Given the description of an element on the screen output the (x, y) to click on. 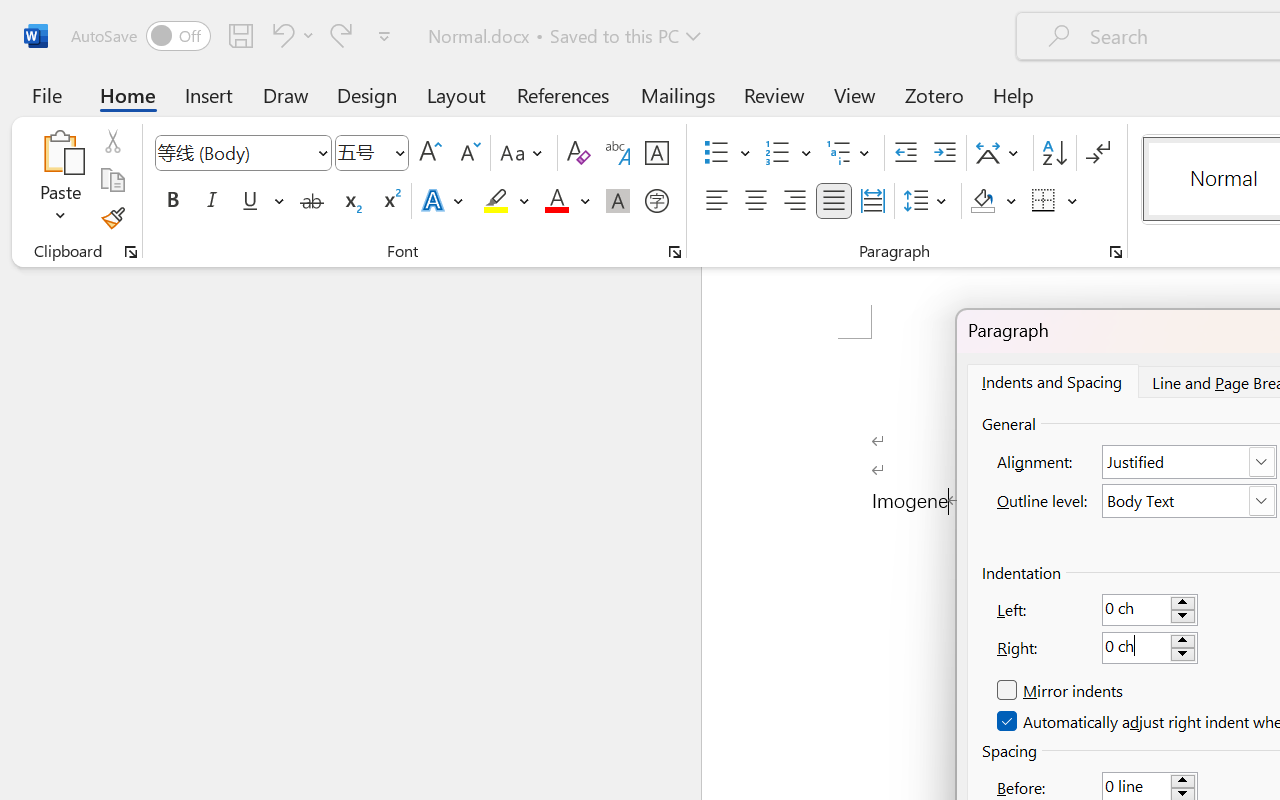
Shading (993, 201)
Right: (1150, 648)
Line and Paragraph Spacing (927, 201)
Bold (172, 201)
Indents and Spacing (1051, 381)
Text Highlight Color (506, 201)
Enclose Characters... (656, 201)
Increase Indent (944, 153)
Show/Hide Editing Marks (1098, 153)
